Given the description of an element on the screen output the (x, y) to click on. 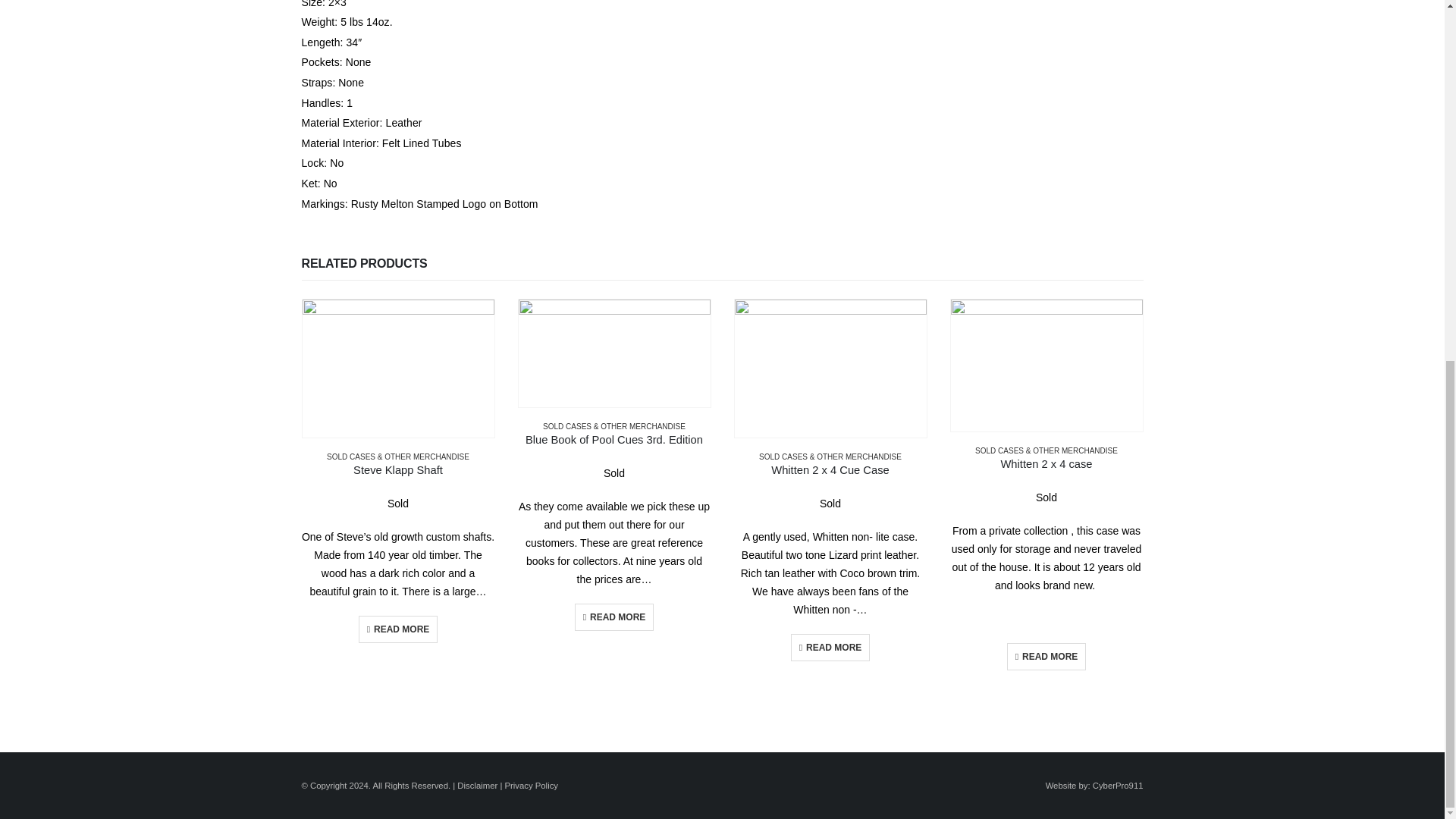
READ MORE (614, 616)
Steve Klapp Shaft (398, 470)
Blue Book of Pool Cues 3rd. Edition (613, 440)
READ MORE (398, 628)
